Given the description of an element on the screen output the (x, y) to click on. 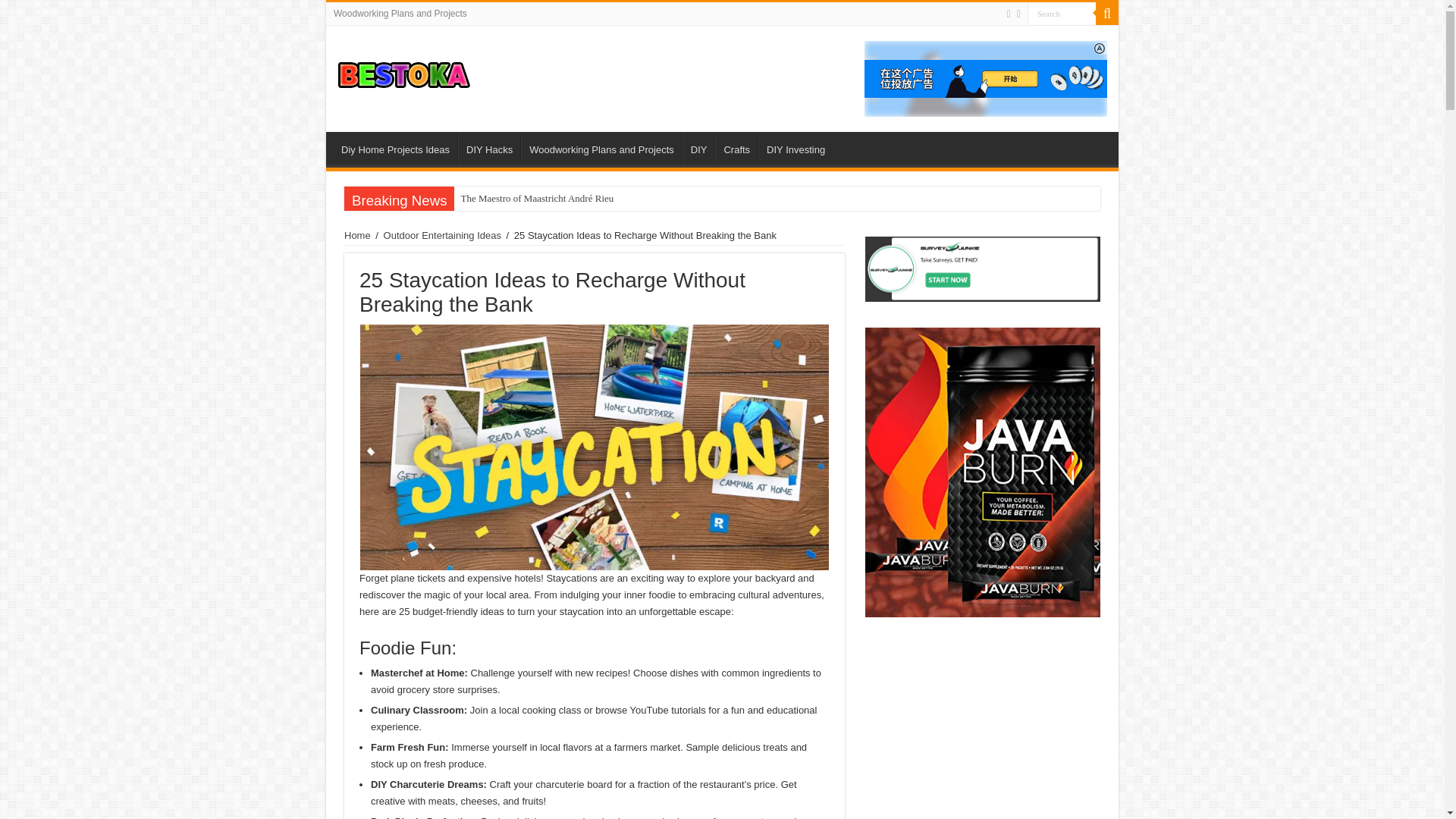
Search (1061, 13)
Woodworking Plans and Projects (601, 147)
Crafts (735, 147)
Home (357, 235)
Woodworking Plans and Projects (400, 13)
Bestoka Best DIY Projects (403, 70)
Search (1061, 13)
Diy Home Projects Ideas (395, 147)
DIY Investing (795, 147)
DIY Hacks (488, 147)
